Given the description of an element on the screen output the (x, y) to click on. 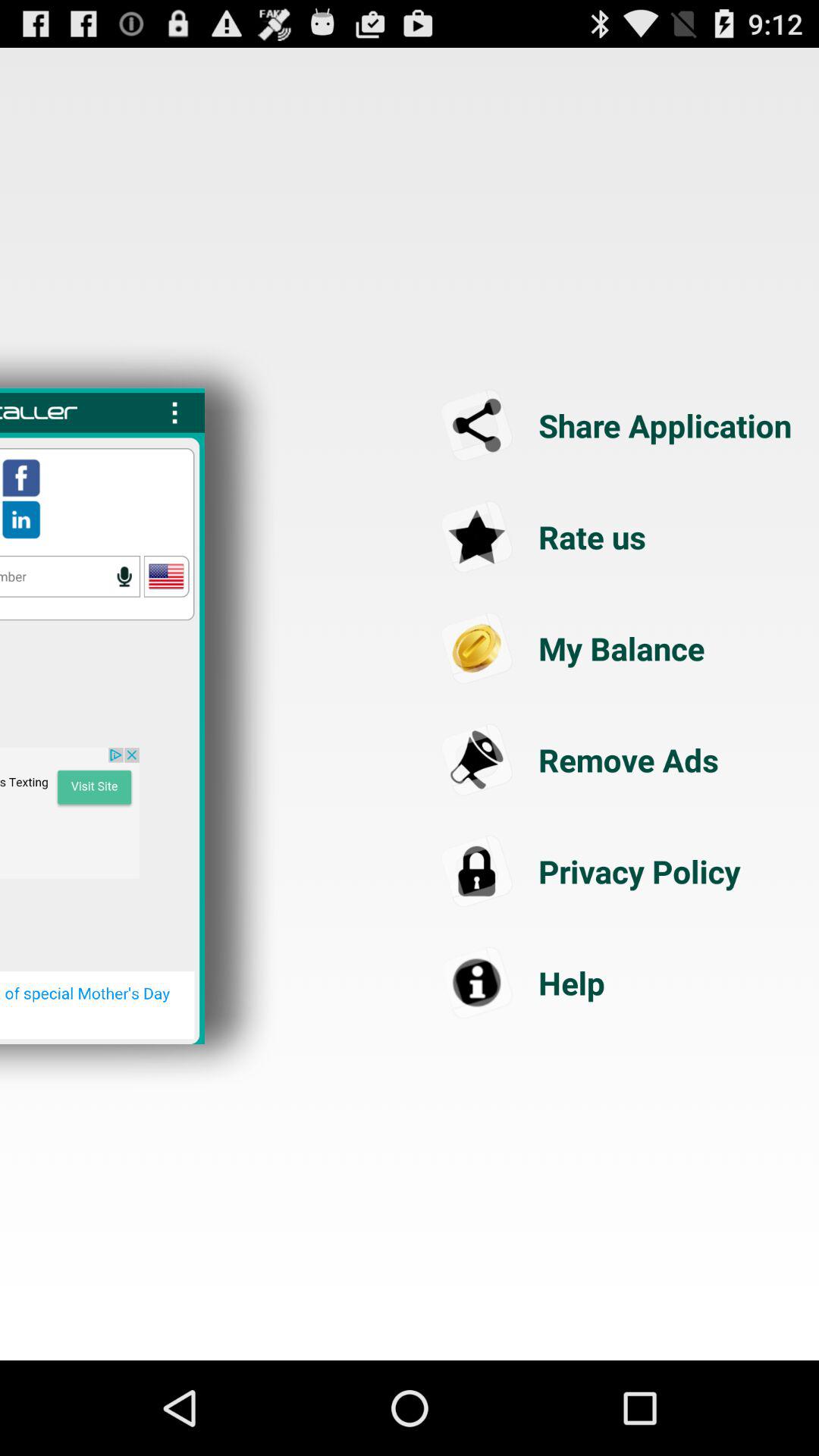
access linkedin profile (21, 519)
